Given the description of an element on the screen output the (x, y) to click on. 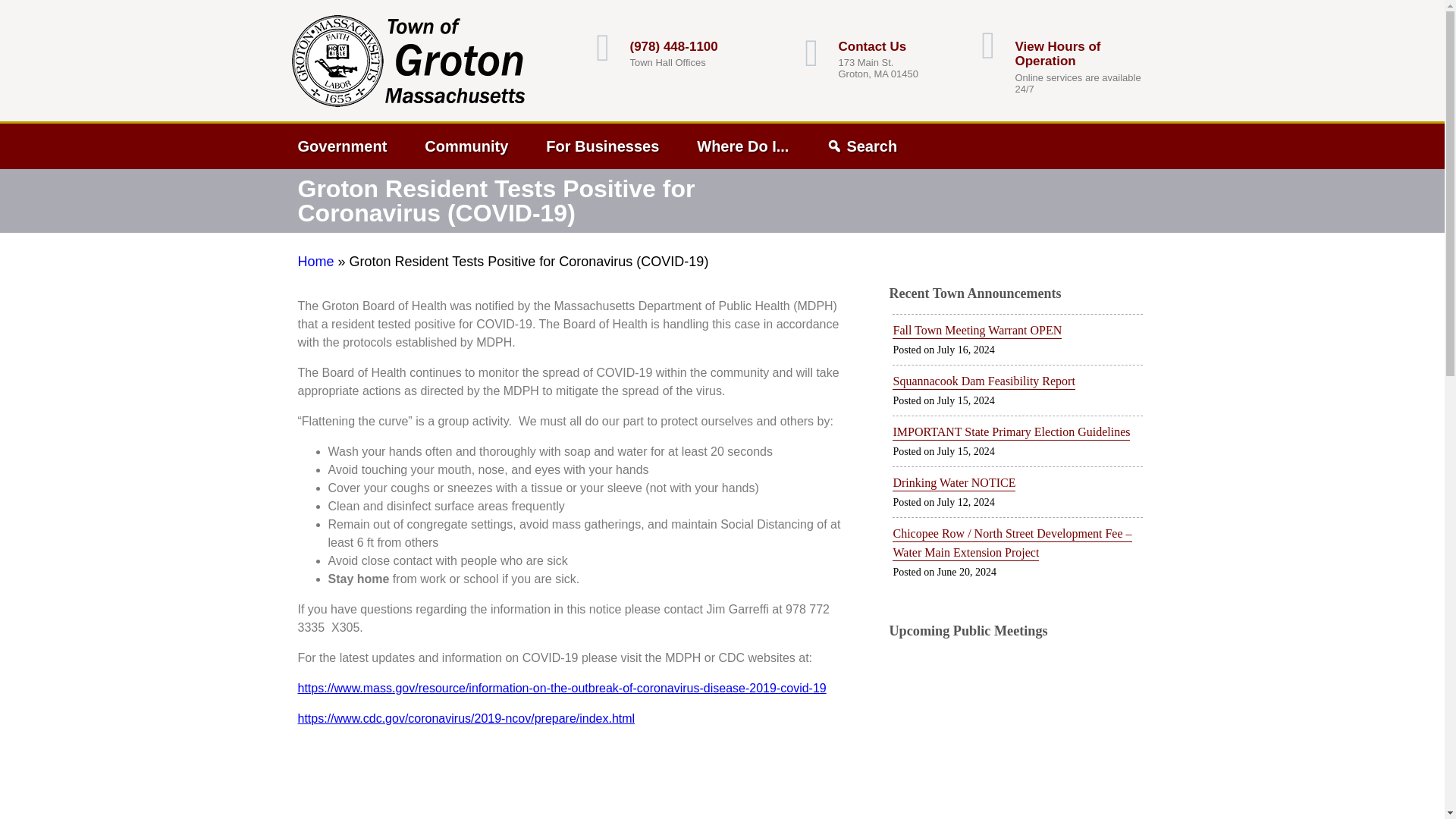
View Hours of Operation (1057, 53)
Government (352, 145)
Contact Us (871, 46)
